Given the description of an element on the screen output the (x, y) to click on. 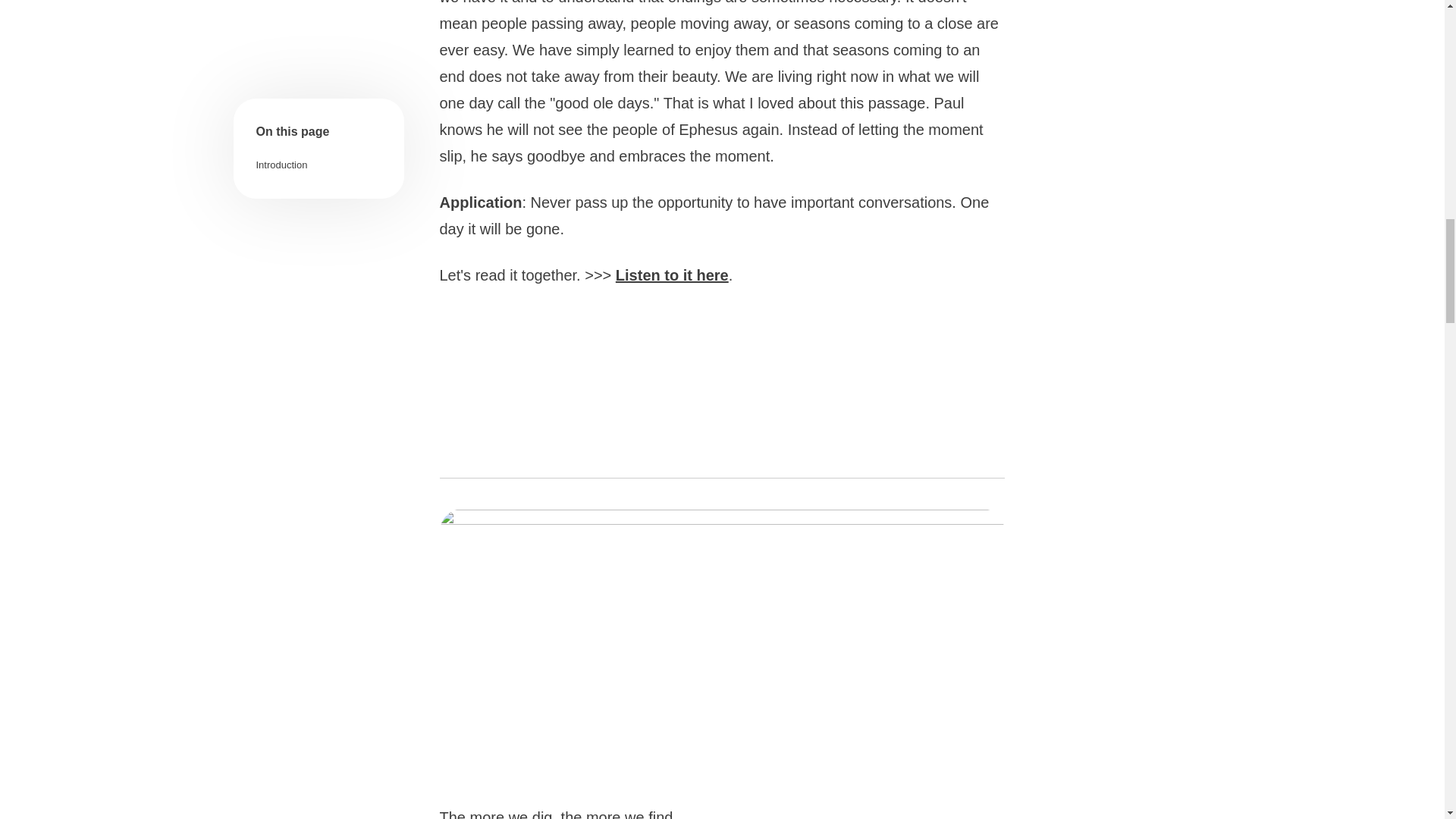
The Bible Breakdown , Acts 20: A Tearful Goodbye (722, 384)
